Given the description of an element on the screen output the (x, y) to click on. 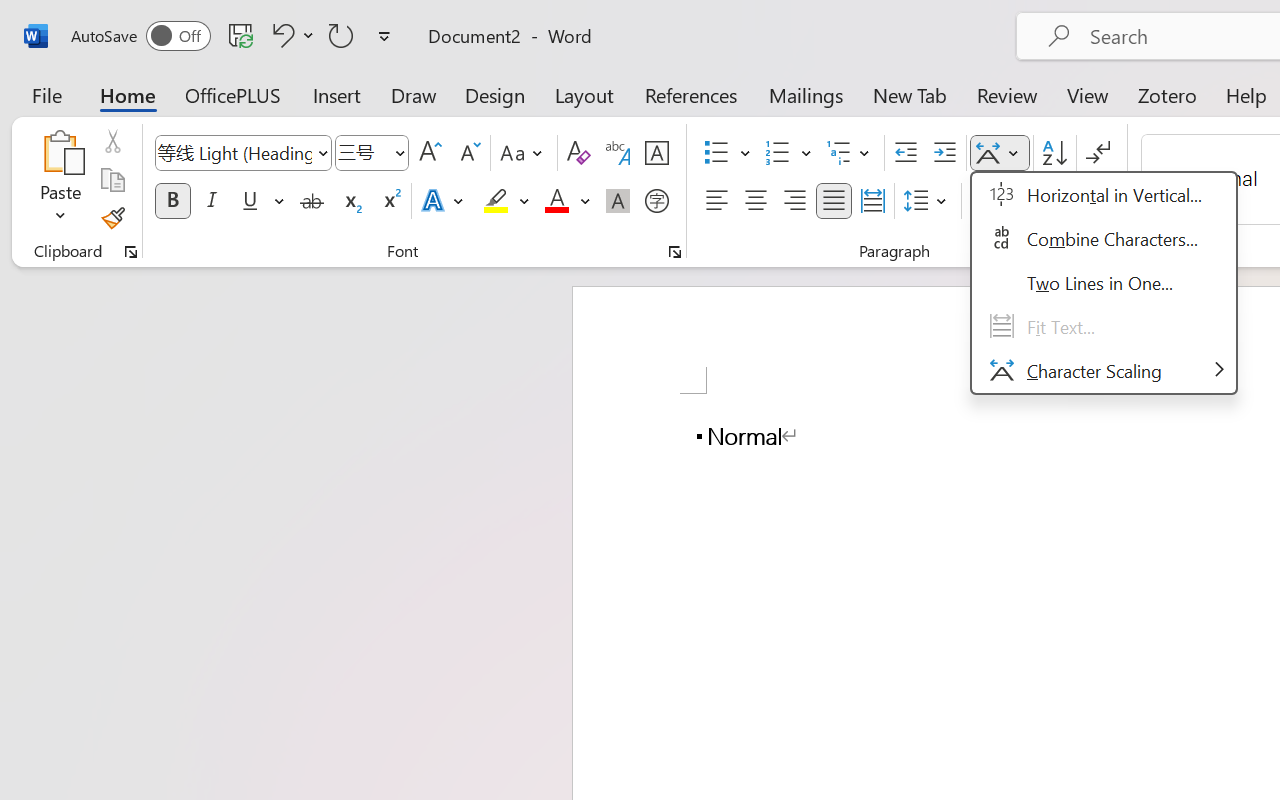
Multilevel List (850, 153)
Design (495, 94)
Phonetic Guide... (618, 153)
Save (241, 35)
Text Effects and Typography (444, 201)
Undo Typing (290, 35)
Quick Access Toolbar (233, 36)
Font Size (362, 152)
Sort... (1054, 153)
Font Color (567, 201)
New Tab (909, 94)
Subscript (350, 201)
Home (127, 94)
Open (399, 152)
Strikethrough (312, 201)
